Given the description of an element on the screen output the (x, y) to click on. 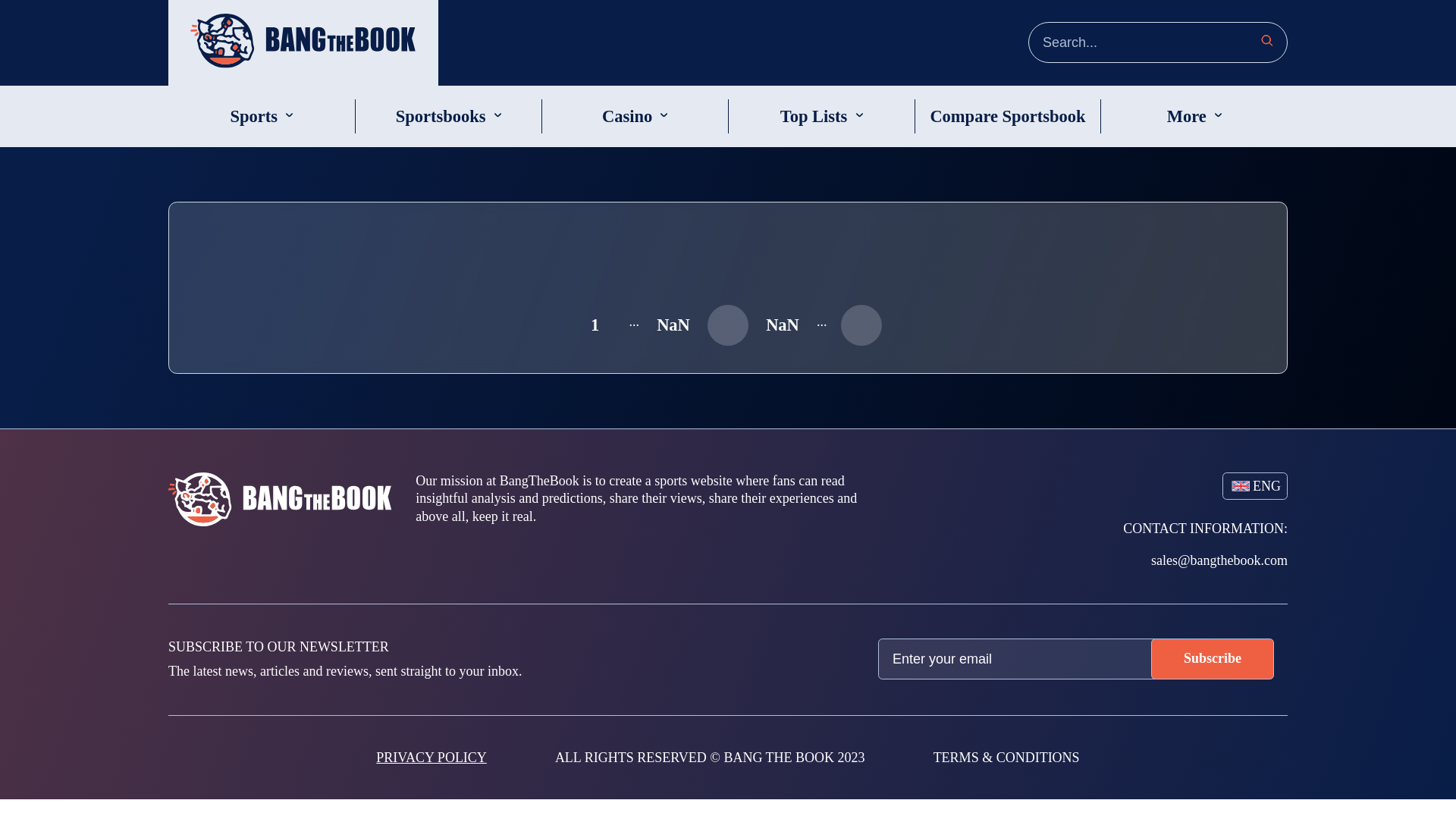
Sports (254, 116)
Casino (627, 116)
Top Lists (813, 116)
Sportsbooks (441, 116)
